Given the description of an element on the screen output the (x, y) to click on. 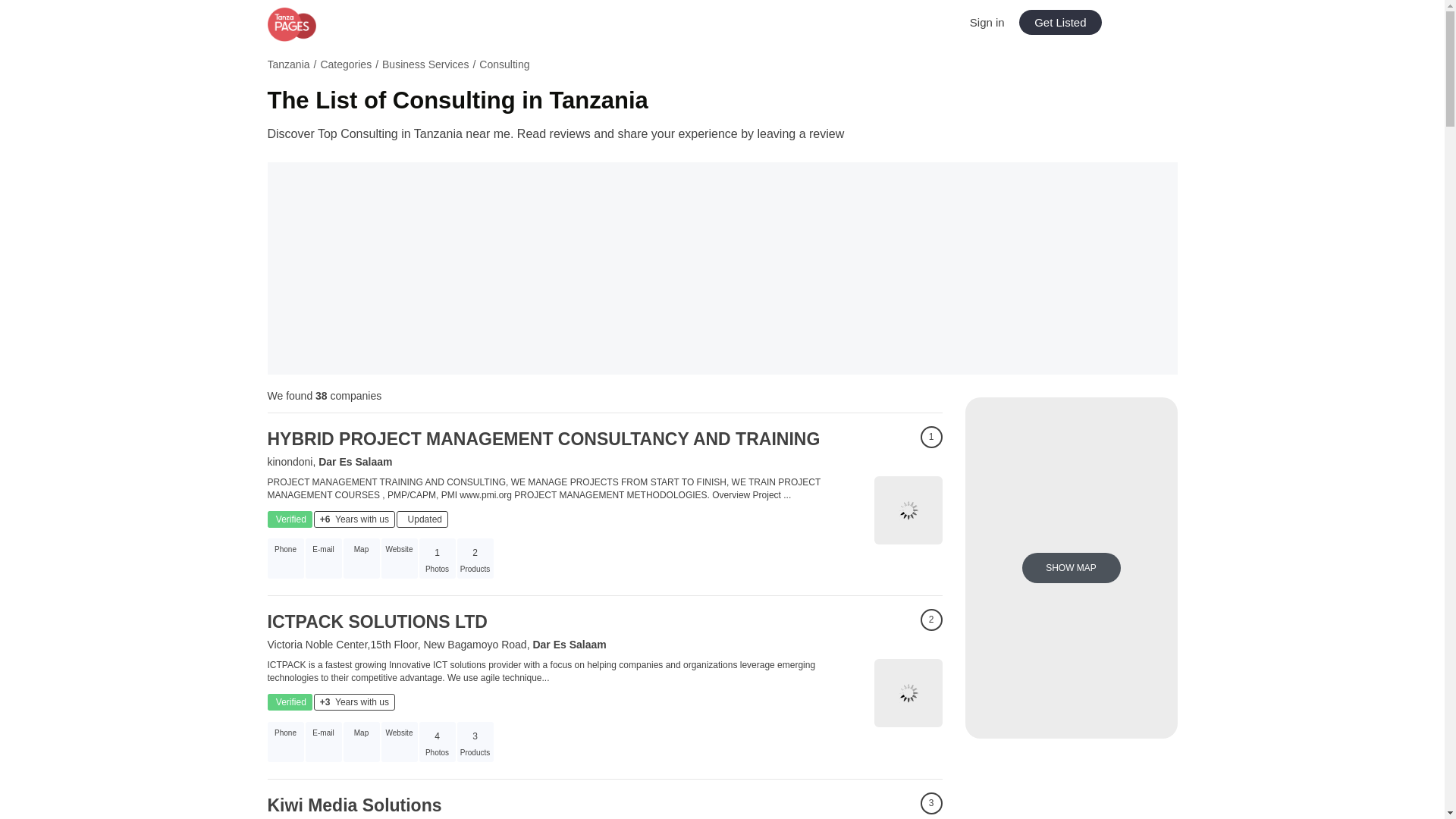
Get Listed (1059, 22)
1 (931, 436)
Dar Es Salaam (568, 644)
Dar Es Salaam (354, 461)
Tanzania Business Directory - Tanzania Pages (319, 24)
Tanzania Categories Business Services Consulting (721, 67)
Tanzania Business Directory - Tanzania Pages (319, 24)
ICTPACK SOLUTIONS LTD Business Page (907, 693)
Companies in Dar Es Salaam (568, 644)
Companies in Dar Es Salaam (354, 461)
